Given the description of an element on the screen output the (x, y) to click on. 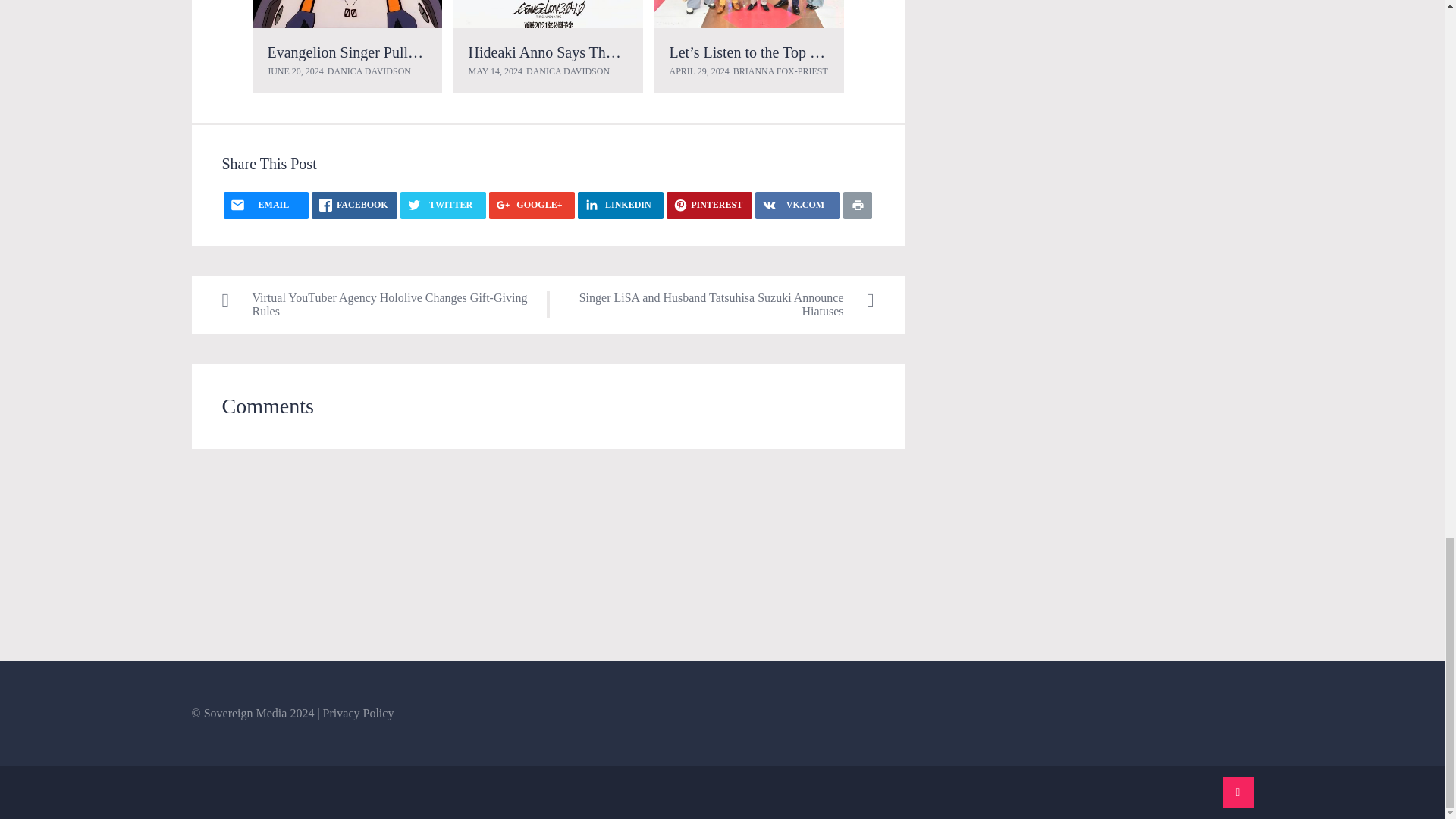
Hideaki Anno Says There Might Be More Evangelion Anime (547, 13)
Hideaki Anno Says There Might Be More Evangelion Anime (654, 52)
